Given the description of an element on the screen output the (x, y) to click on. 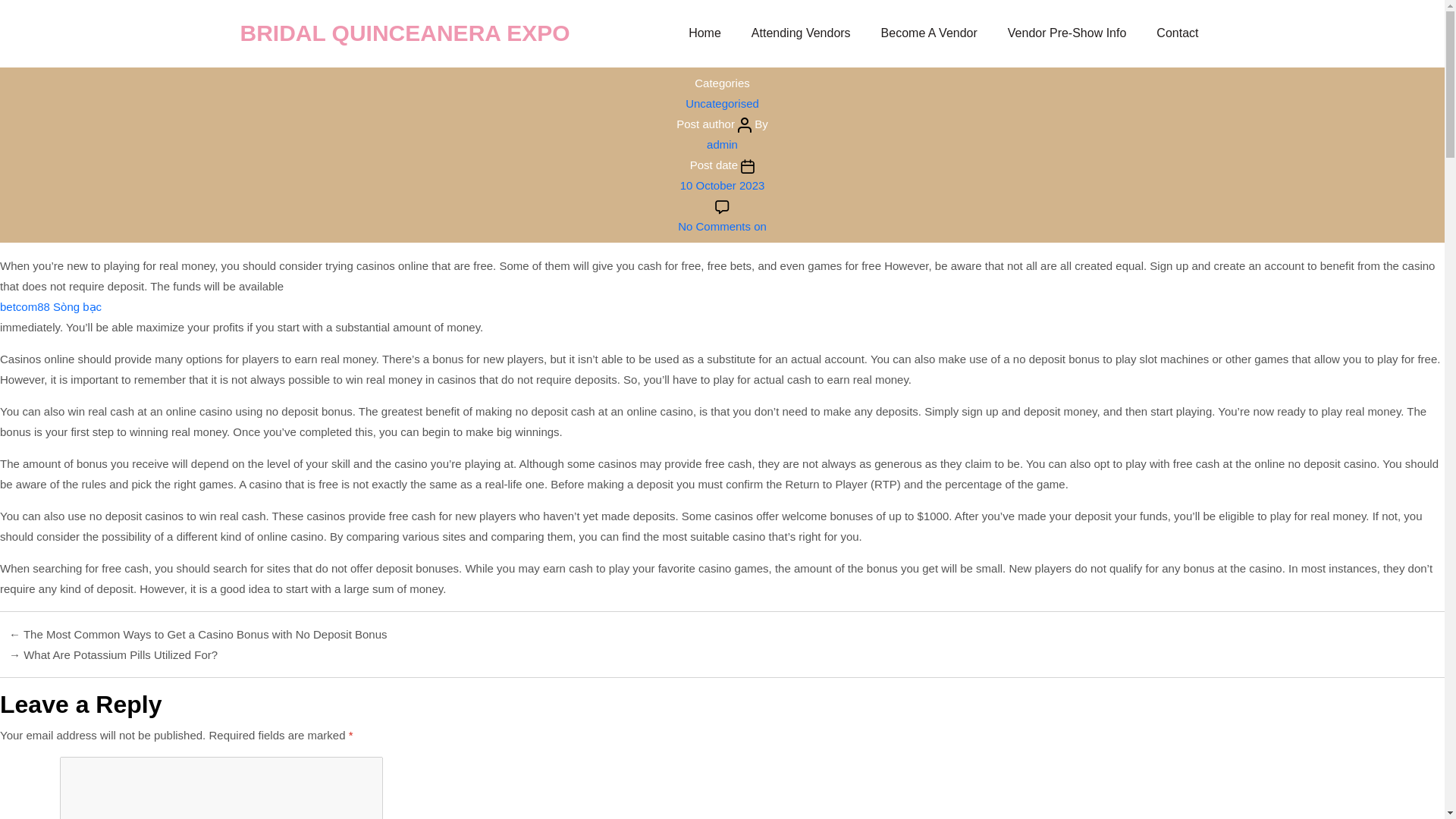
Attending Vendors (800, 33)
No Comments on (722, 226)
10 October 2023 (722, 185)
Contact (1177, 33)
Vendor Pre-Show Info (1066, 33)
admin (722, 144)
Home (704, 33)
BRIDAL QUINCEANERA EXPO (267, 33)
Uncategorised (722, 103)
Become A Vendor (928, 33)
